Given the description of an element on the screen output the (x, y) to click on. 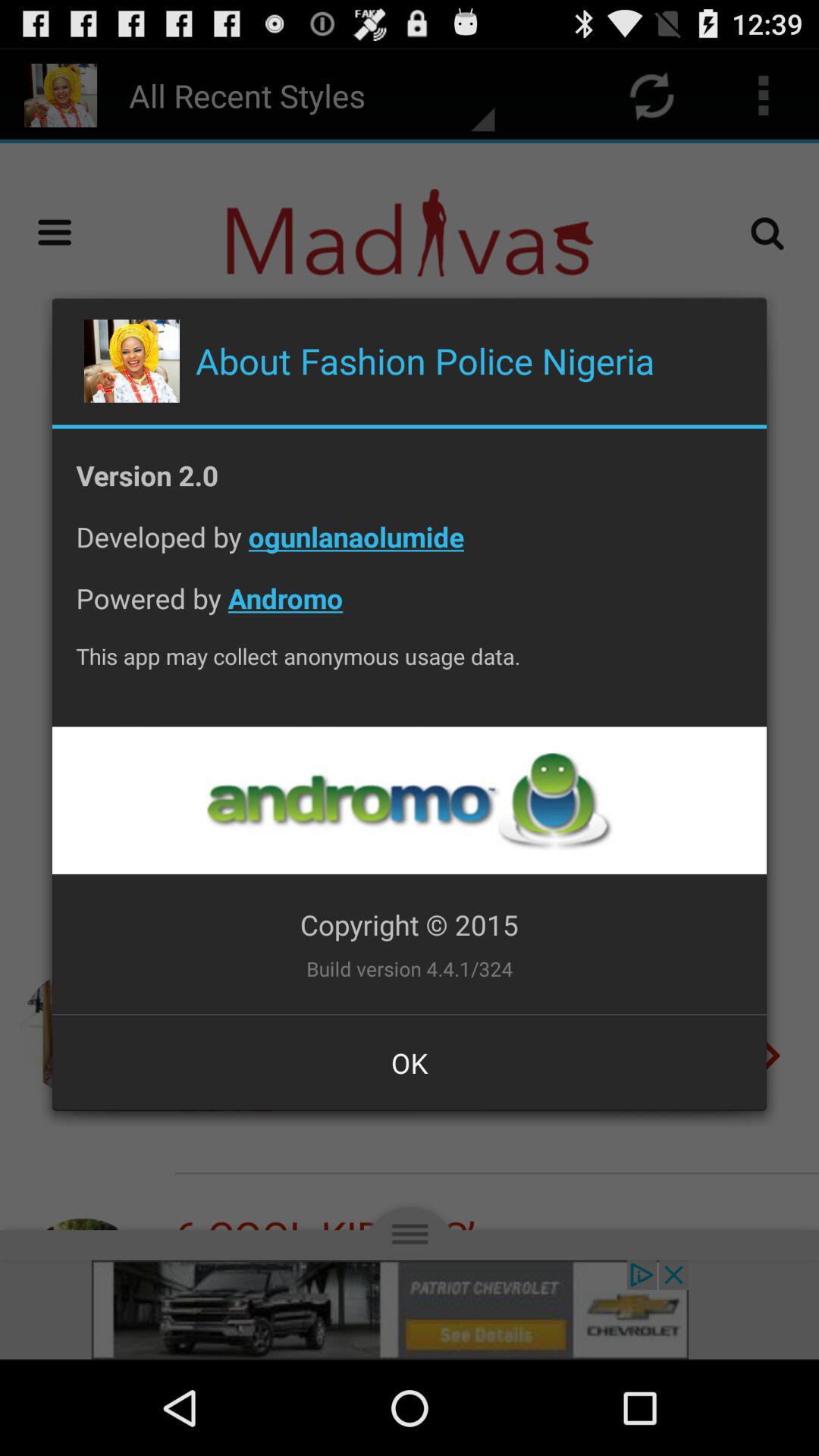
click the app below this app may icon (408, 800)
